Given the description of an element on the screen output the (x, y) to click on. 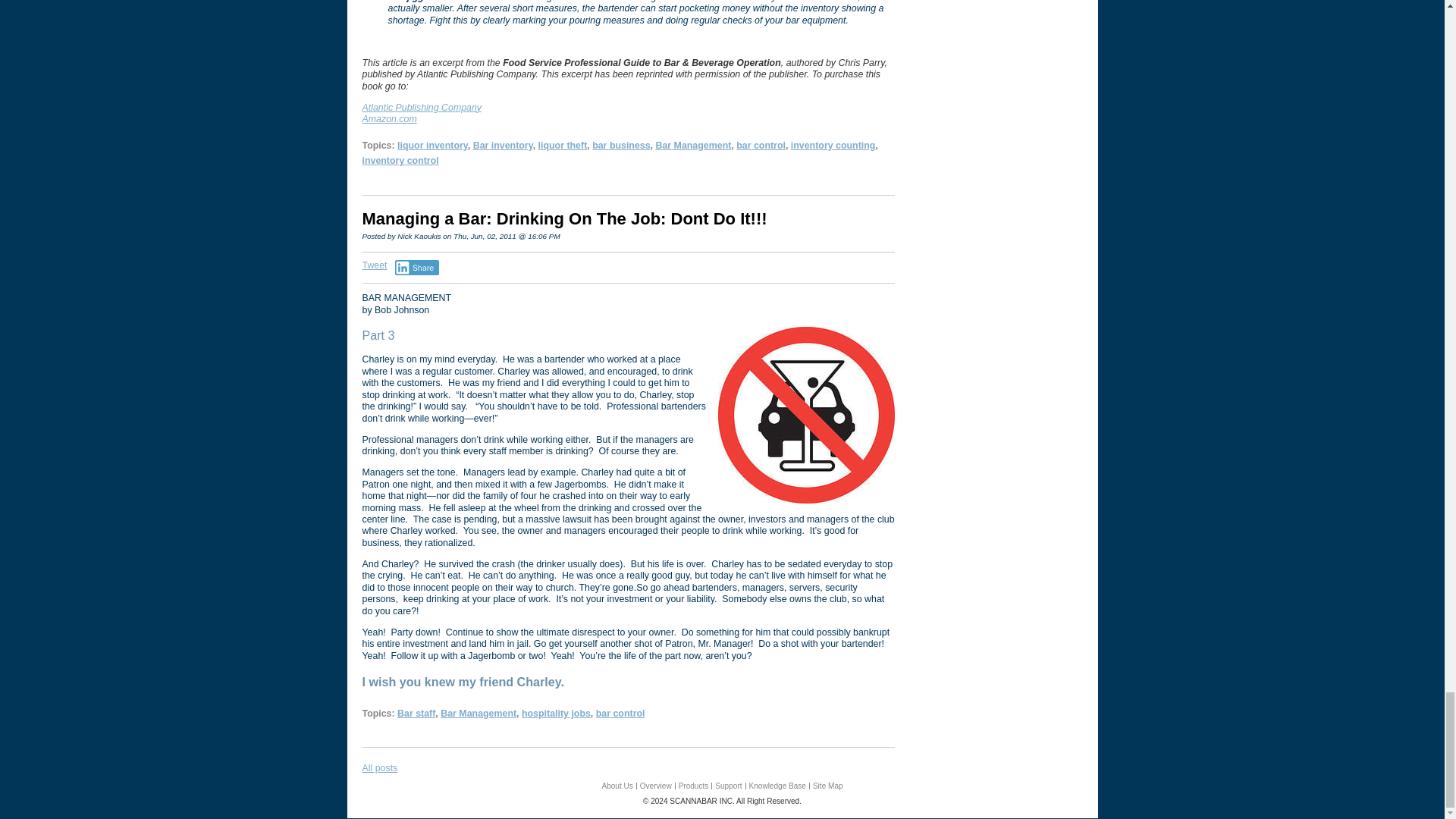
Atlantic Publishing Company (421, 107)
Amazon.com (389, 118)
